Given the description of an element on the screen output the (x, y) to click on. 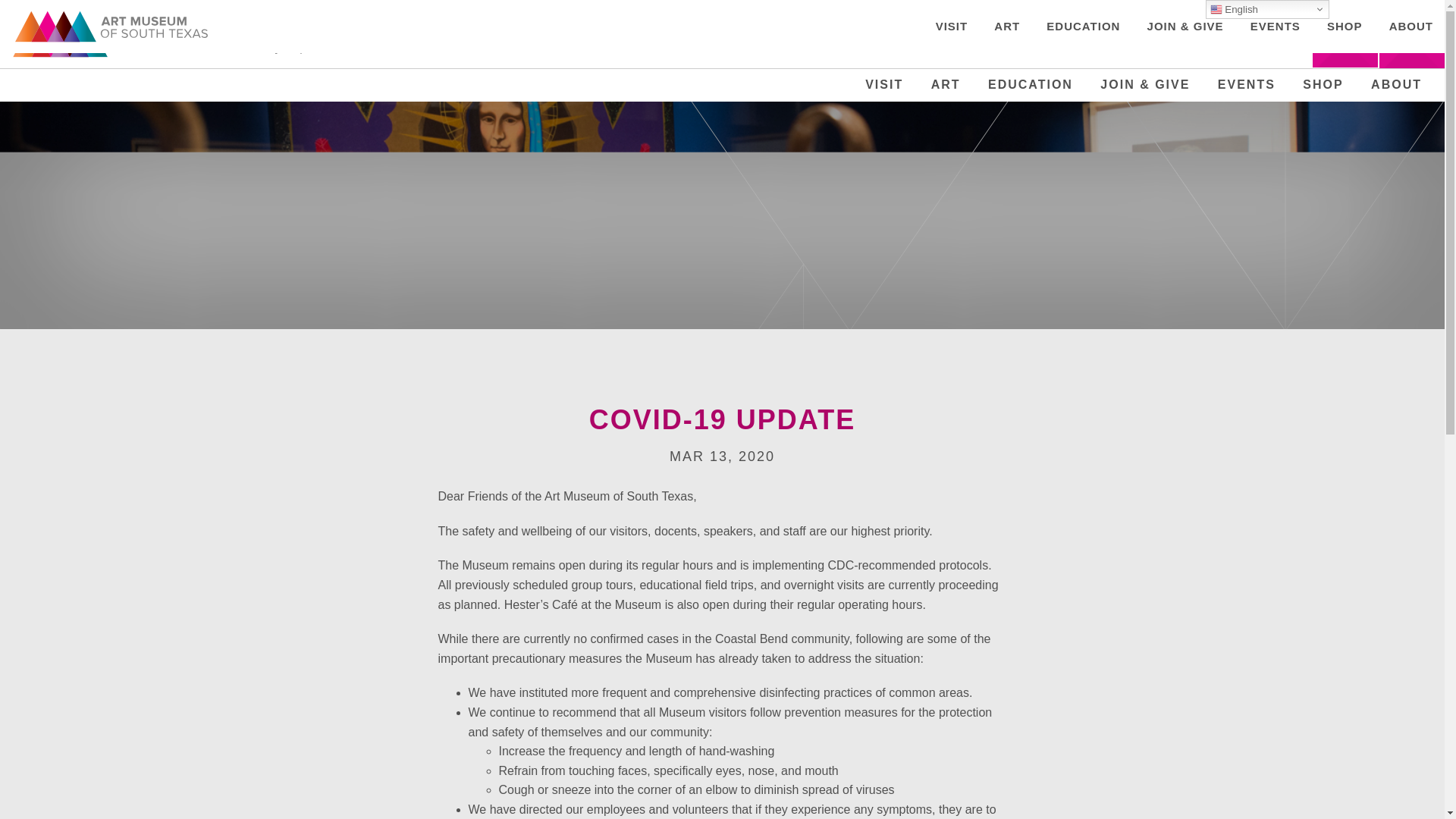
Art (946, 84)
Join (1345, 39)
EVENTS (1247, 84)
VISIT (883, 84)
Education (1030, 84)
SHOP (1322, 84)
ABOUT (1395, 84)
